Given the description of an element on the screen output the (x, y) to click on. 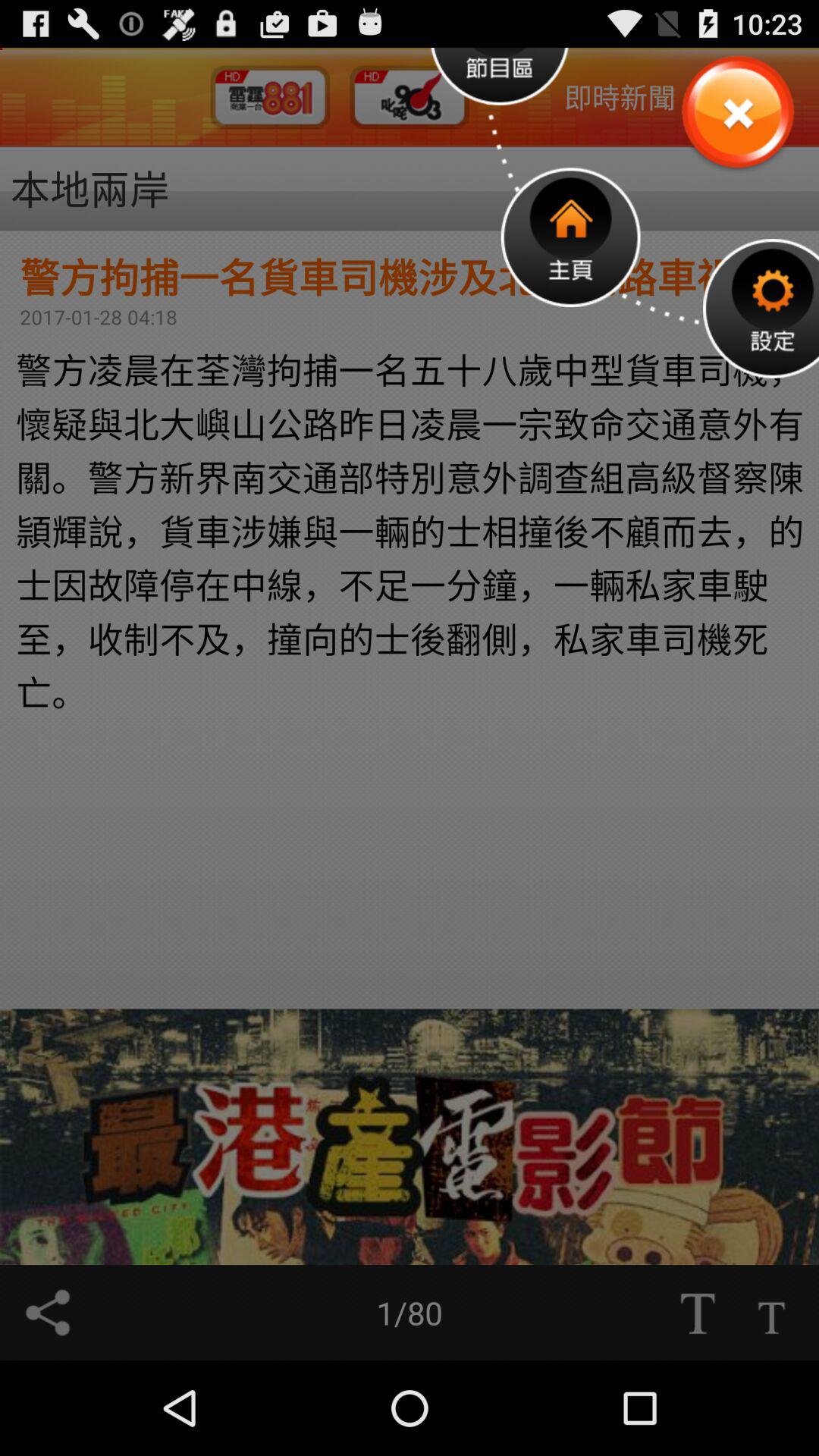
close the option (737, 113)
